Given the description of an element on the screen output the (x, y) to click on. 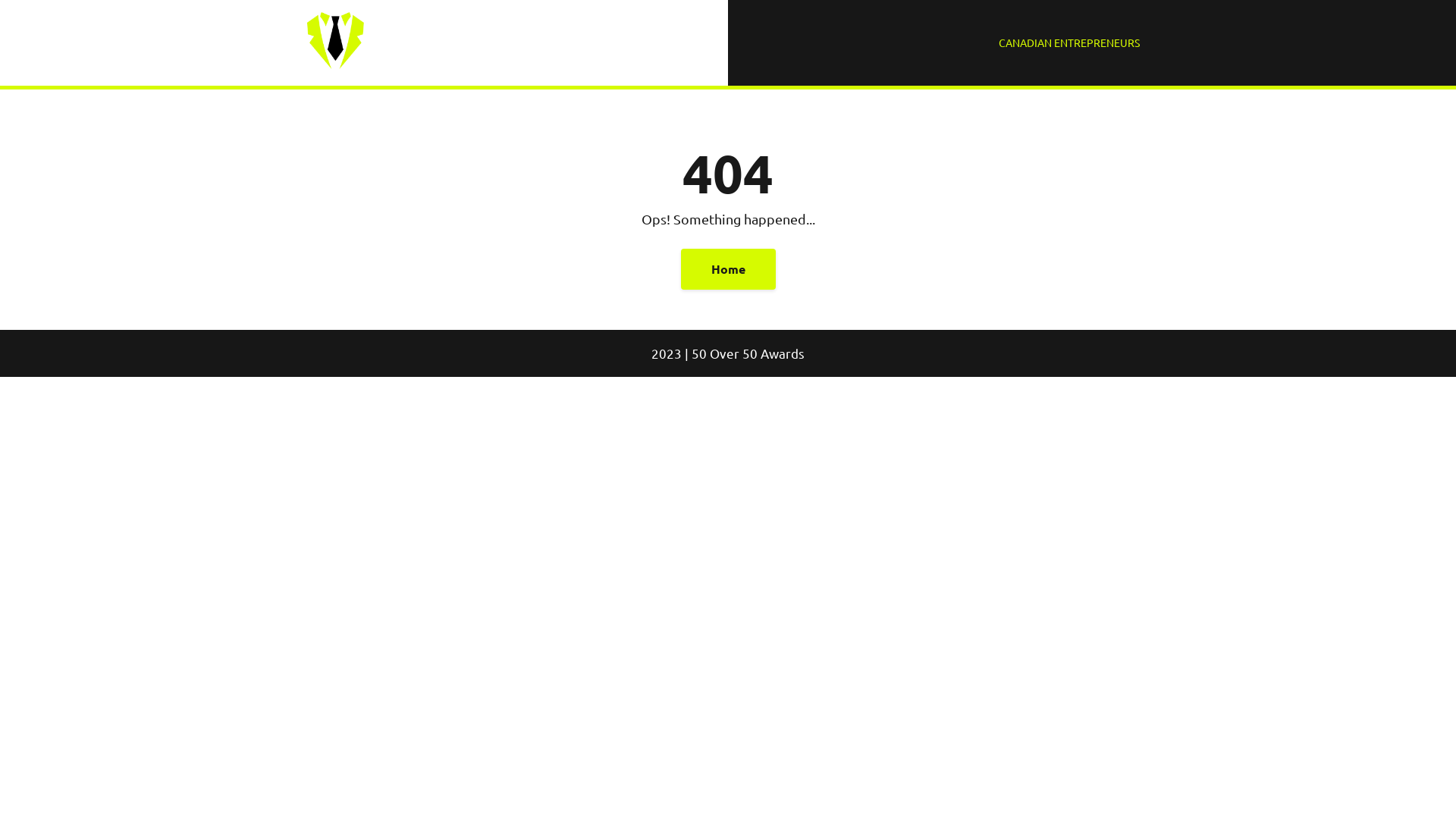
CANADIAN ENTREPRENEURS Element type: text (1068, 42)
Home Element type: text (727, 268)
